Given the description of an element on the screen output the (x, y) to click on. 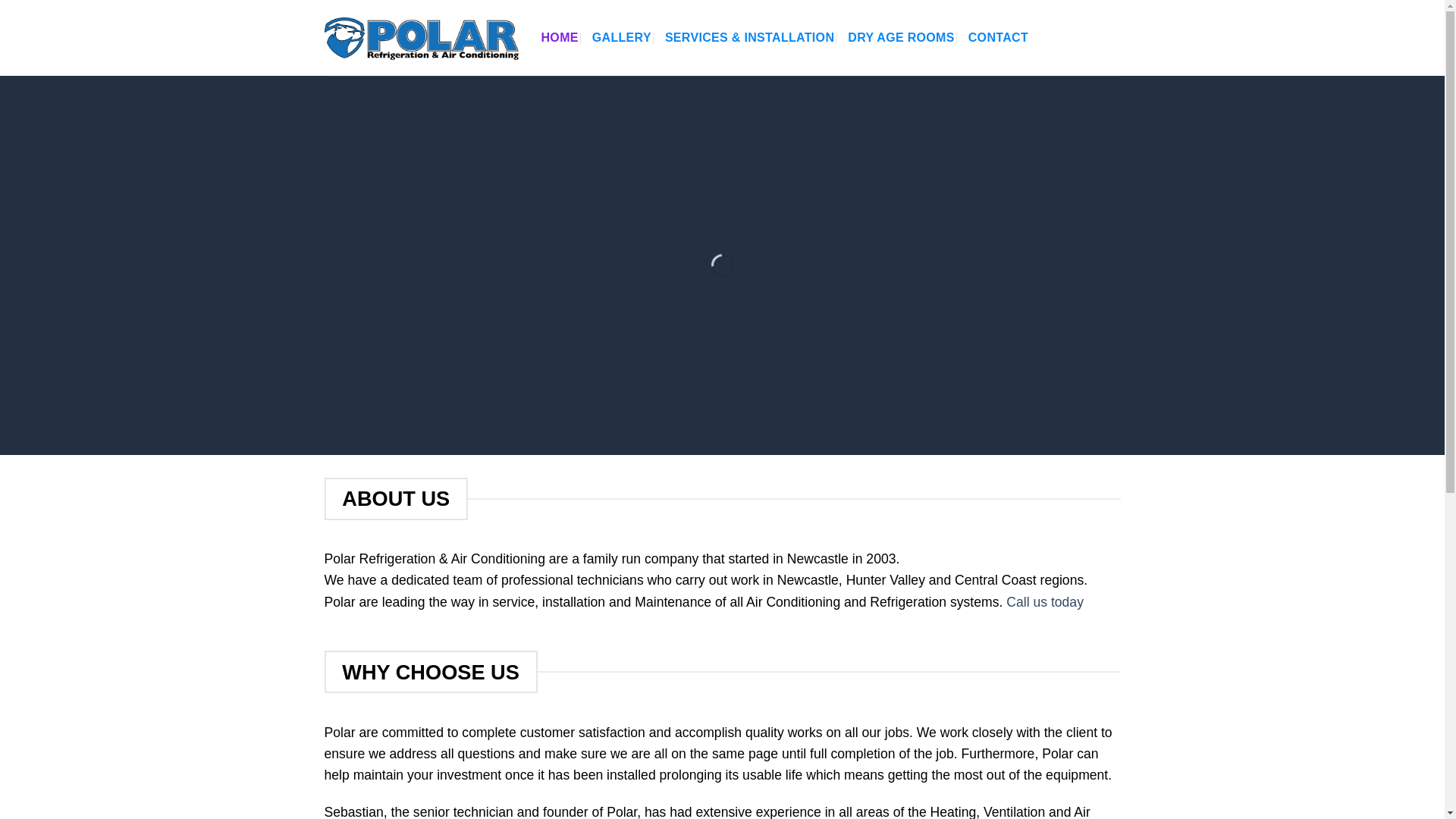
Call us today (1044, 601)
DRY AGE ROOMS (900, 37)
GALLERY (621, 37)
CONTACT (997, 37)
HOME (559, 37)
